Given the description of an element on the screen output the (x, y) to click on. 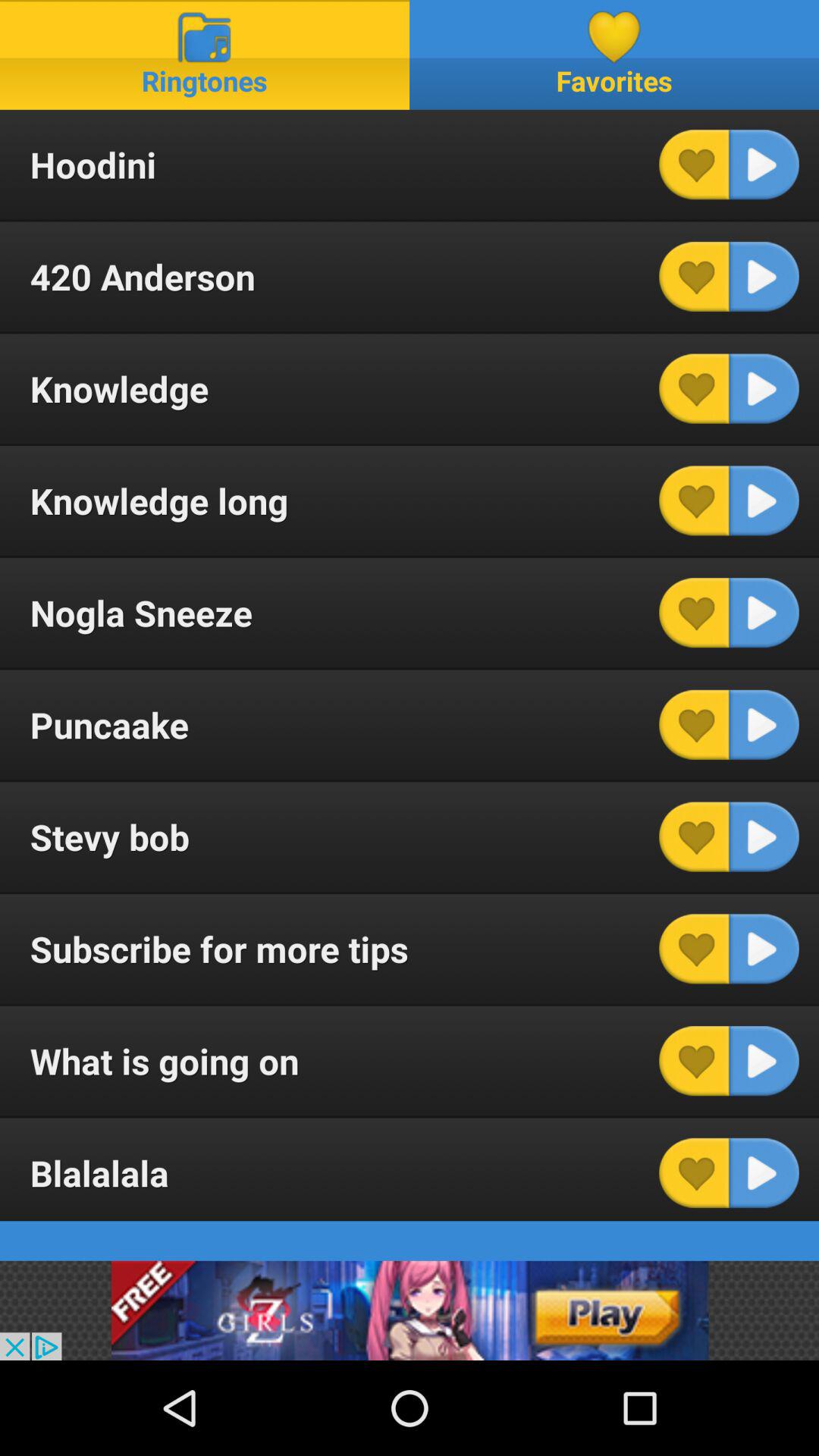
advertisements banner (409, 1310)
